Given the description of an element on the screen output the (x, y) to click on. 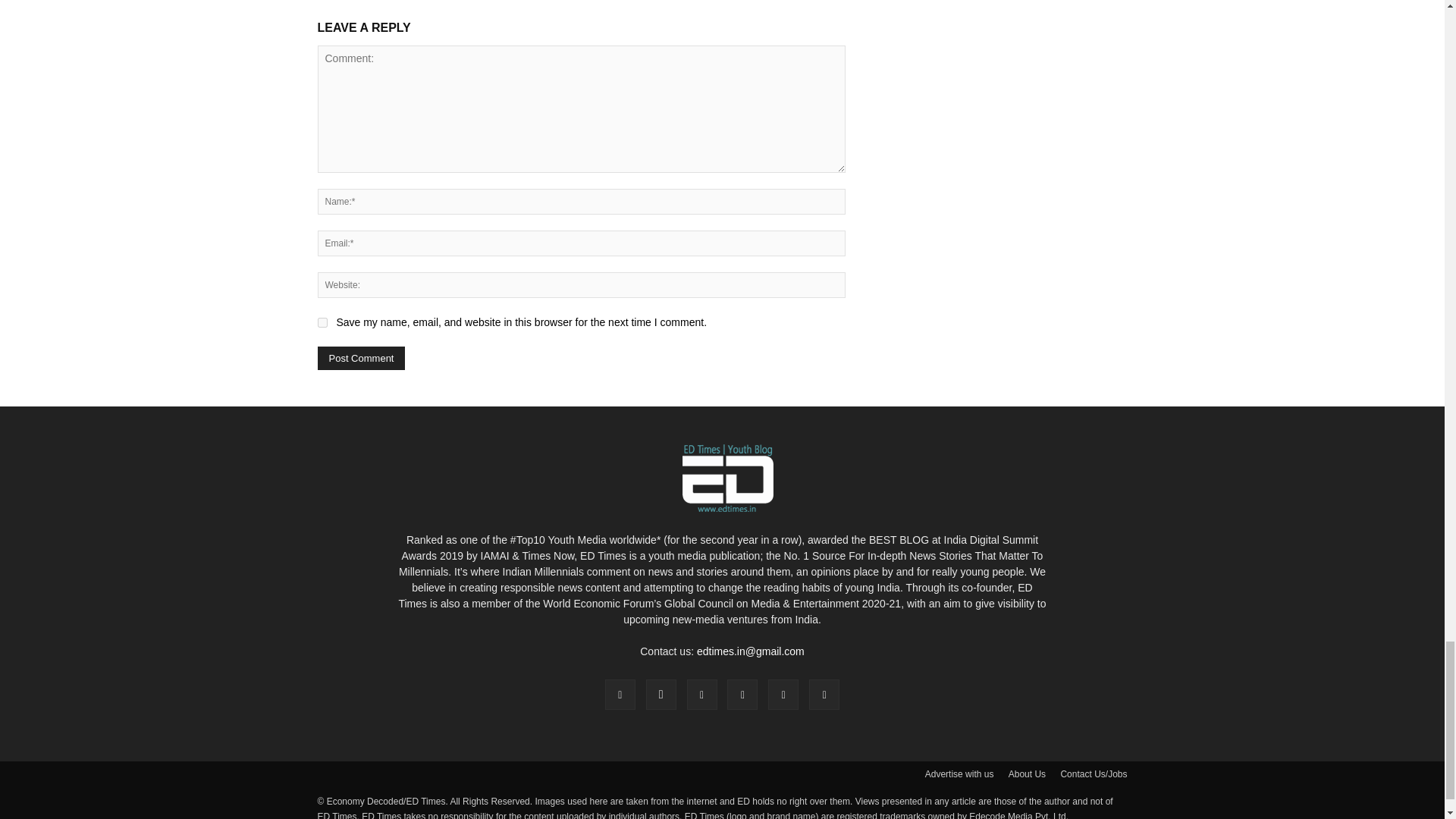
yes (321, 322)
Post Comment (360, 358)
